Given the description of an element on the screen output the (x, y) to click on. 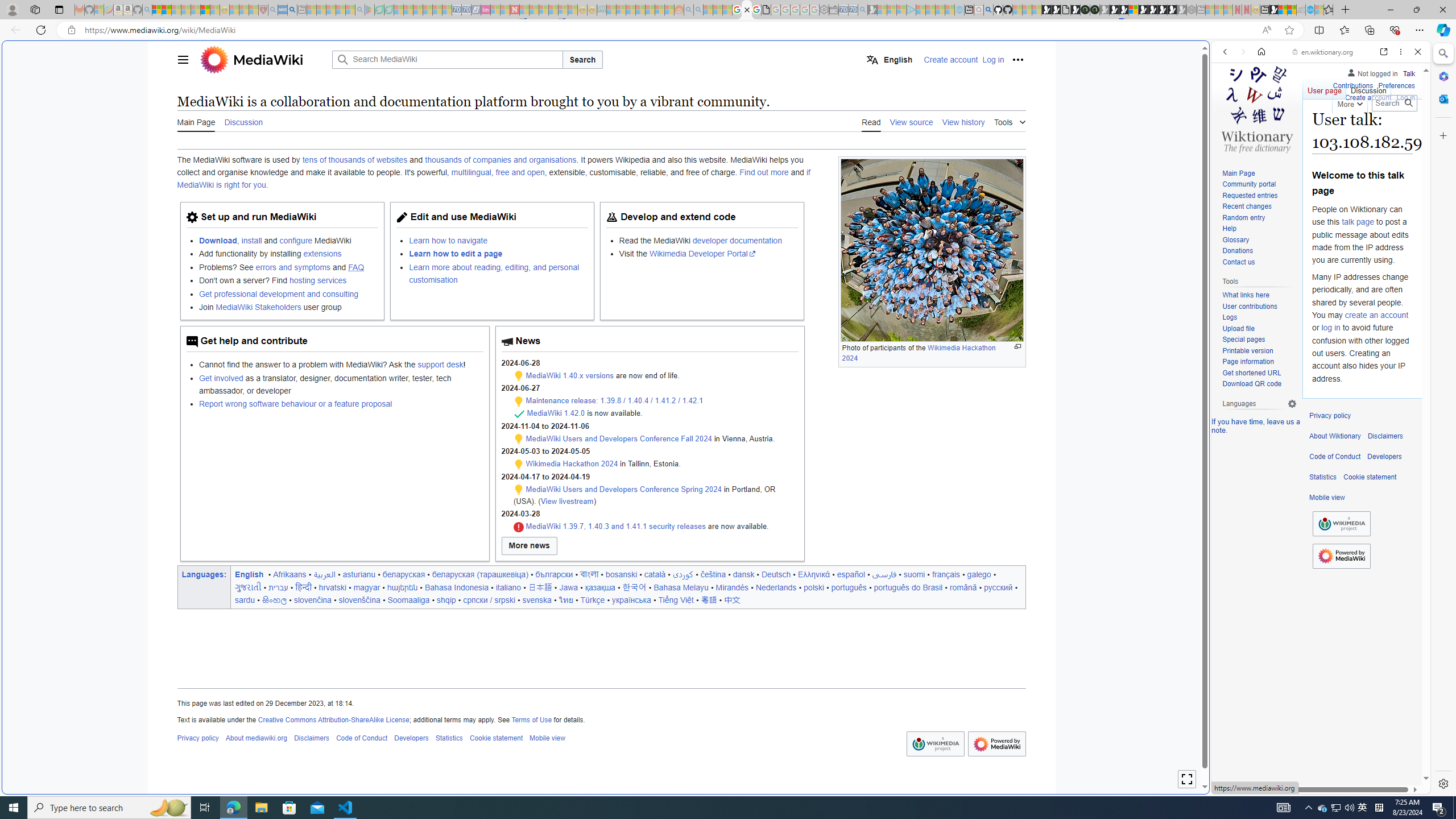
User page (1324, 87)
Find out more (764, 172)
Printable version (1247, 350)
User contributions (1259, 306)
Page information (1247, 361)
Learn how to navigate (448, 239)
Add functionality by installing extensions (288, 253)
